Given the description of an element on the screen output the (x, y) to click on. 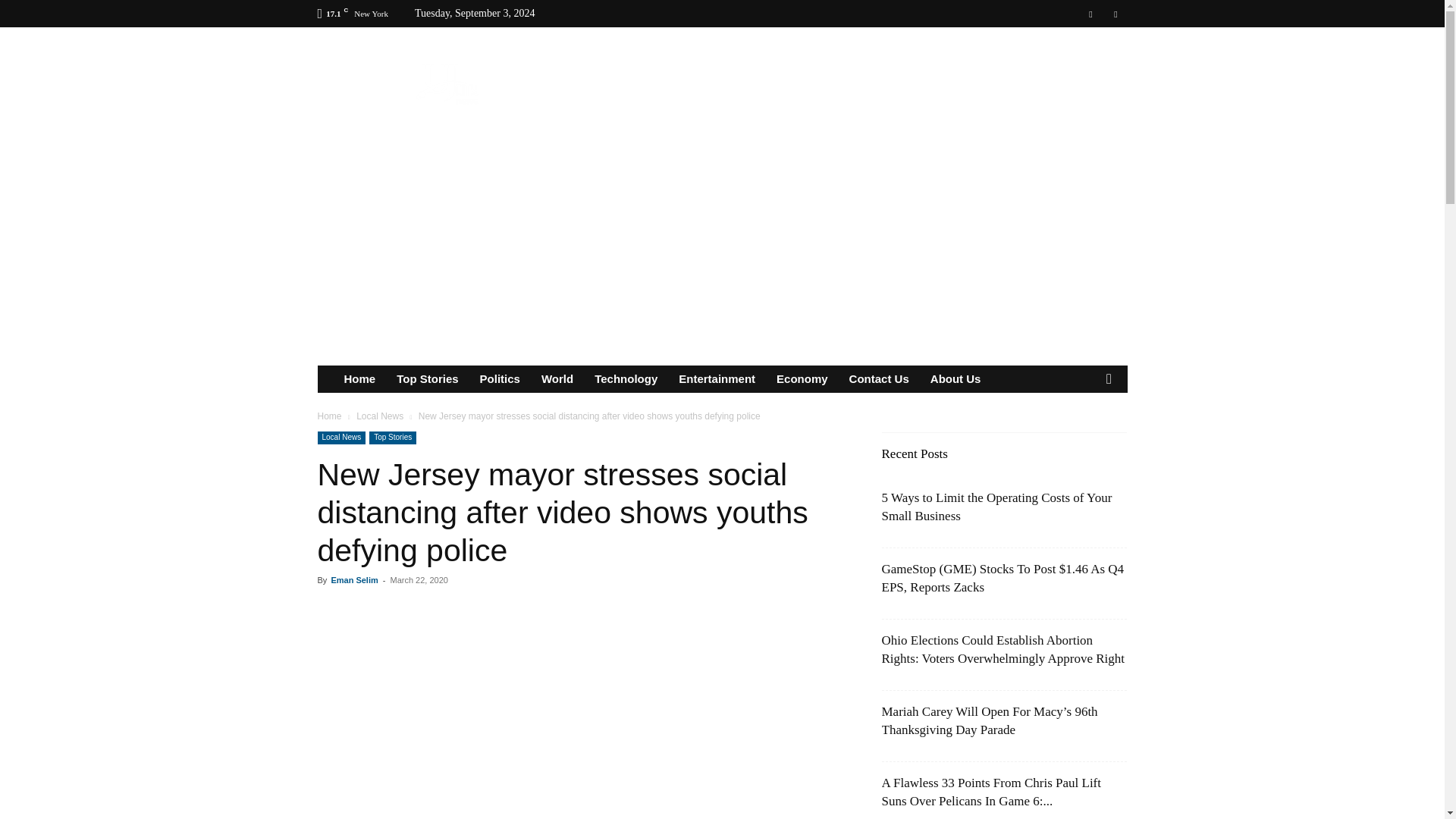
Top Stories (426, 379)
Politics (499, 379)
Top Stories (392, 437)
World (557, 379)
Home (328, 416)
Economy (801, 379)
Technology (625, 379)
Local News (379, 416)
The Union Journal (446, 82)
Search (1085, 435)
